Given the description of an element on the screen output the (x, y) to click on. 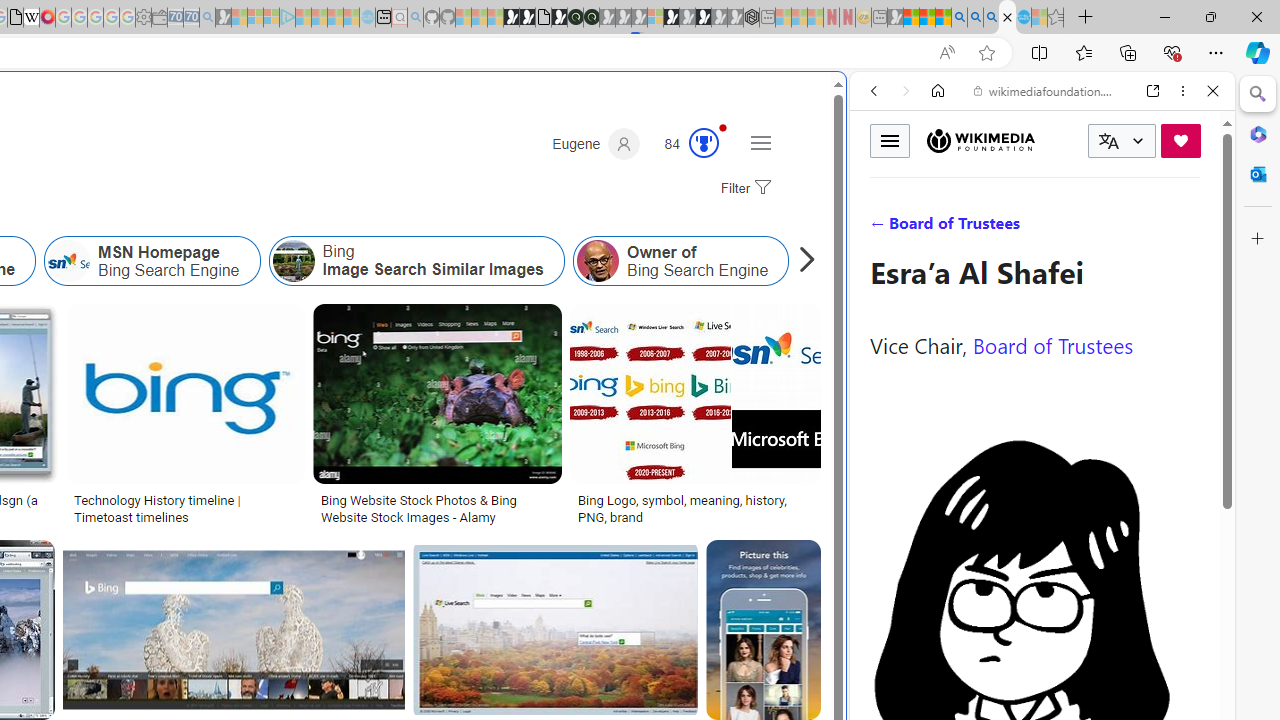
Settings - Sleeping (143, 17)
Services - Maintenance | Sky Blue Bikes - Sky Blue Bikes (1023, 17)
Bing AI - Search (959, 17)
This site scope (936, 180)
Bing Logo, symbol, meaning, history, PNG, brand (695, 508)
Search the web (1051, 137)
MSN - Sleeping (895, 17)
Sign in to your account - Sleeping (655, 17)
